Given the description of an element on the screen output the (x, y) to click on. 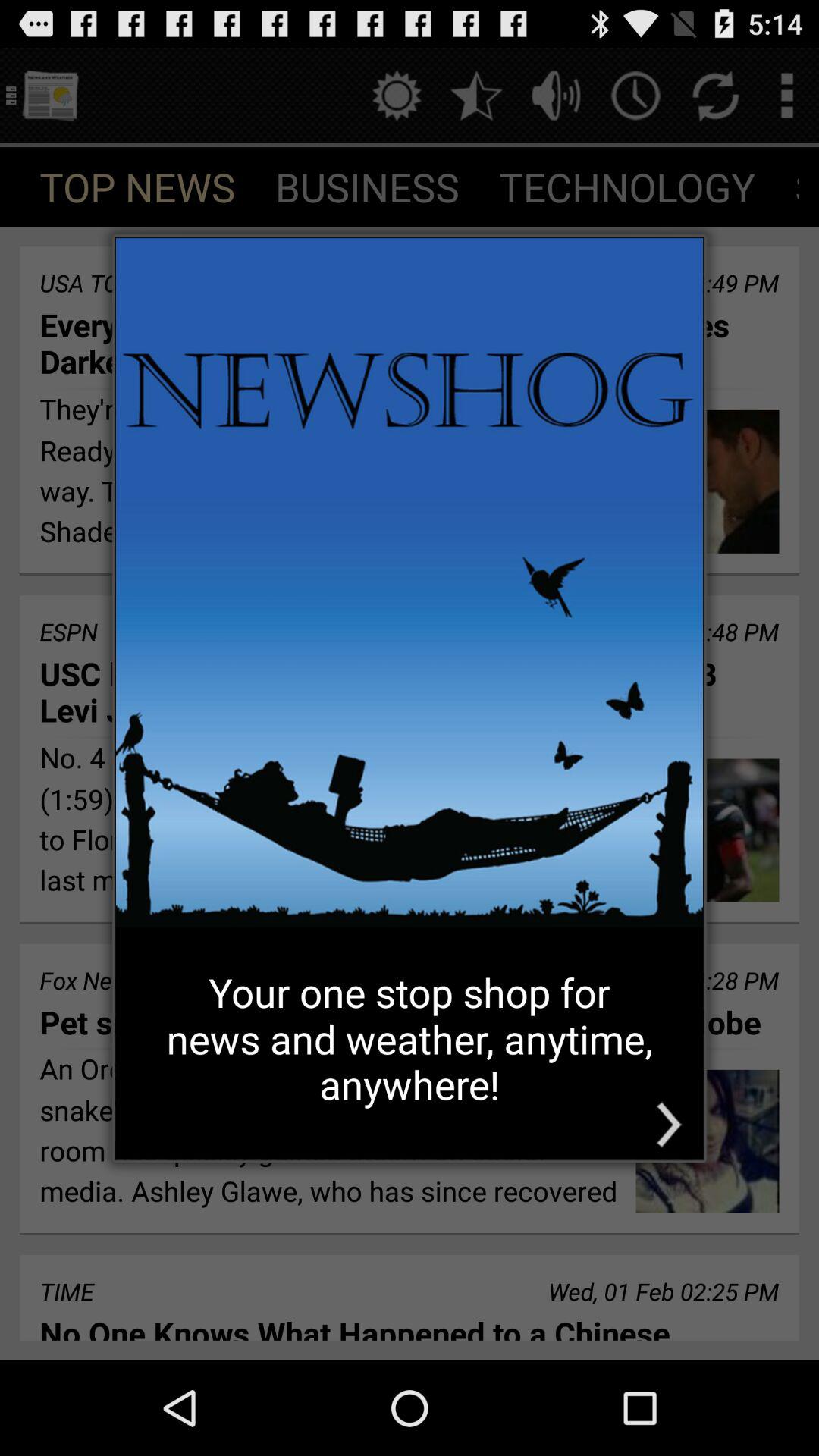
go to the next popup (668, 1124)
